Given the description of an element on the screen output the (x, y) to click on. 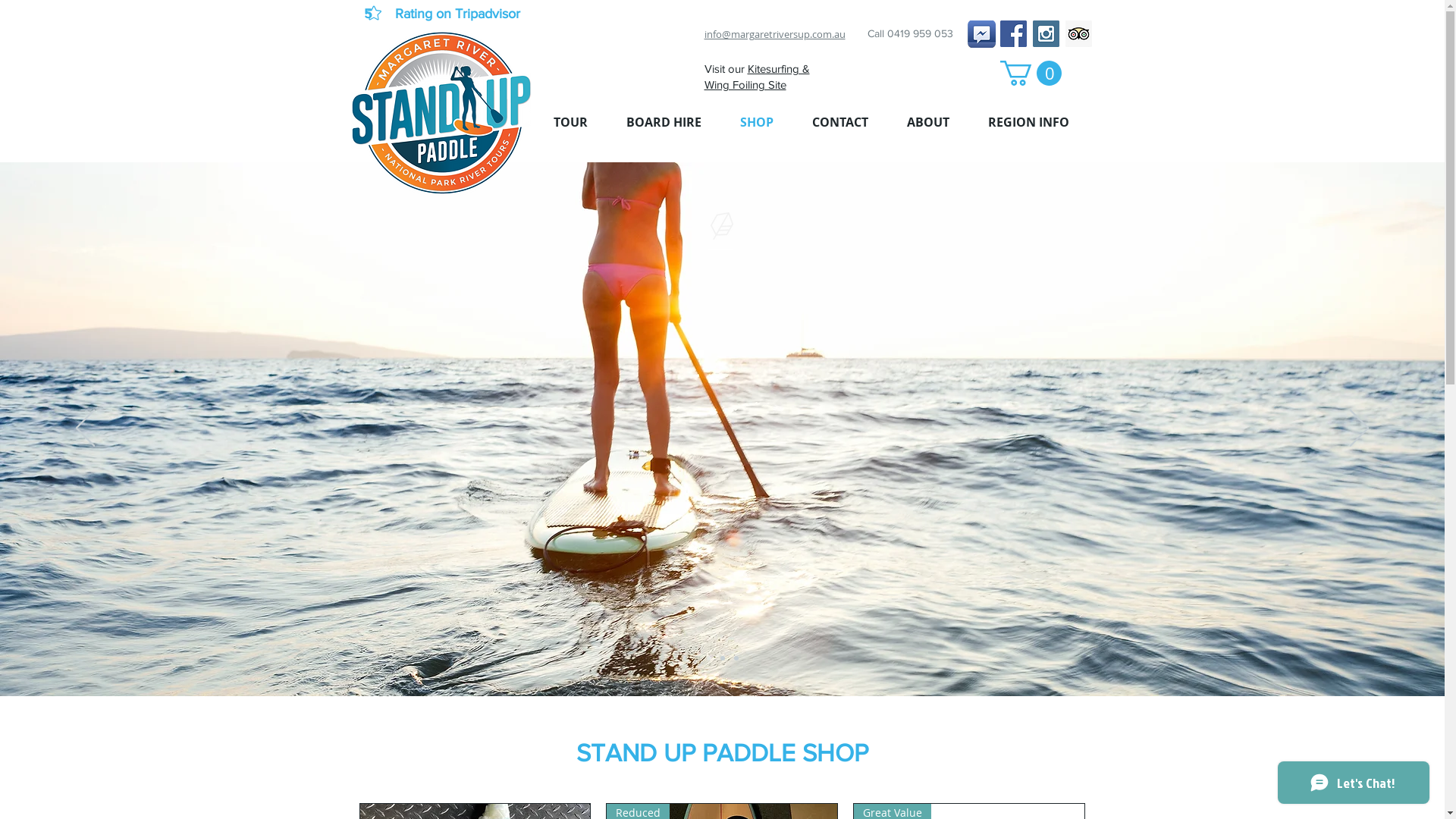
Call 0419 959 053 Element type: text (909, 33)
Kitesurfing & Wing Foiling Site Element type: text (756, 76)
0 Element type: text (1029, 72)
SHOP Element type: text (756, 122)
REGION INFO Element type: text (1028, 122)
info@margaretriversup.com.au Element type: text (773, 33)
ABOUT Element type: text (927, 122)
BOARD HIRE Element type: text (663, 122)
CONTACT Element type: text (840, 122)
TOUR Element type: text (570, 122)
